Given the description of an element on the screen output the (x, y) to click on. 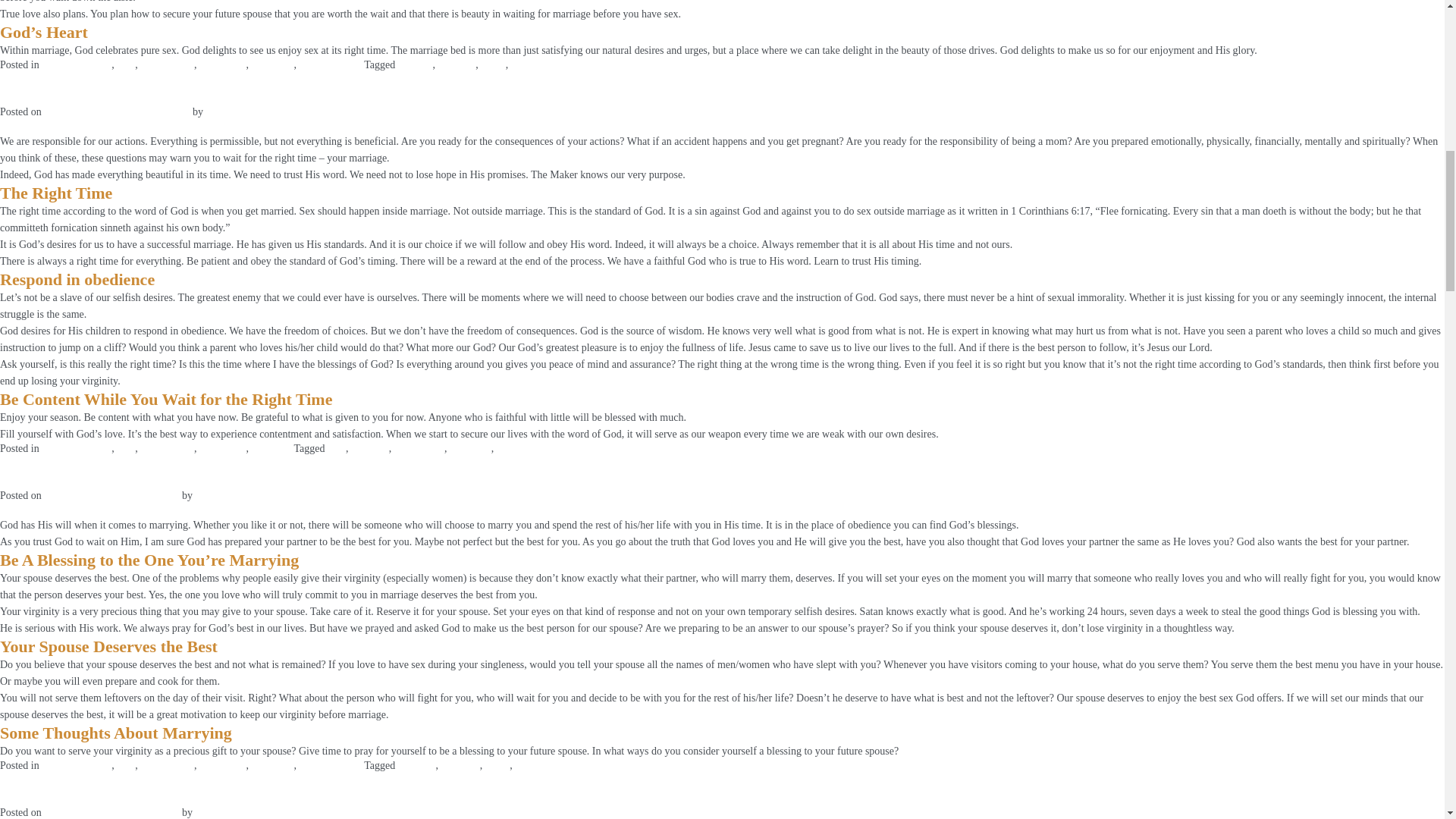
holiness (414, 64)
Woman of God (331, 64)
virginity (529, 64)
Relationship (166, 64)
love (125, 64)
marriage (457, 64)
Christian Values (77, 64)
Self-Love (272, 64)
purity (492, 64)
Self-image (222, 64)
